Given the description of an element on the screen output the (x, y) to click on. 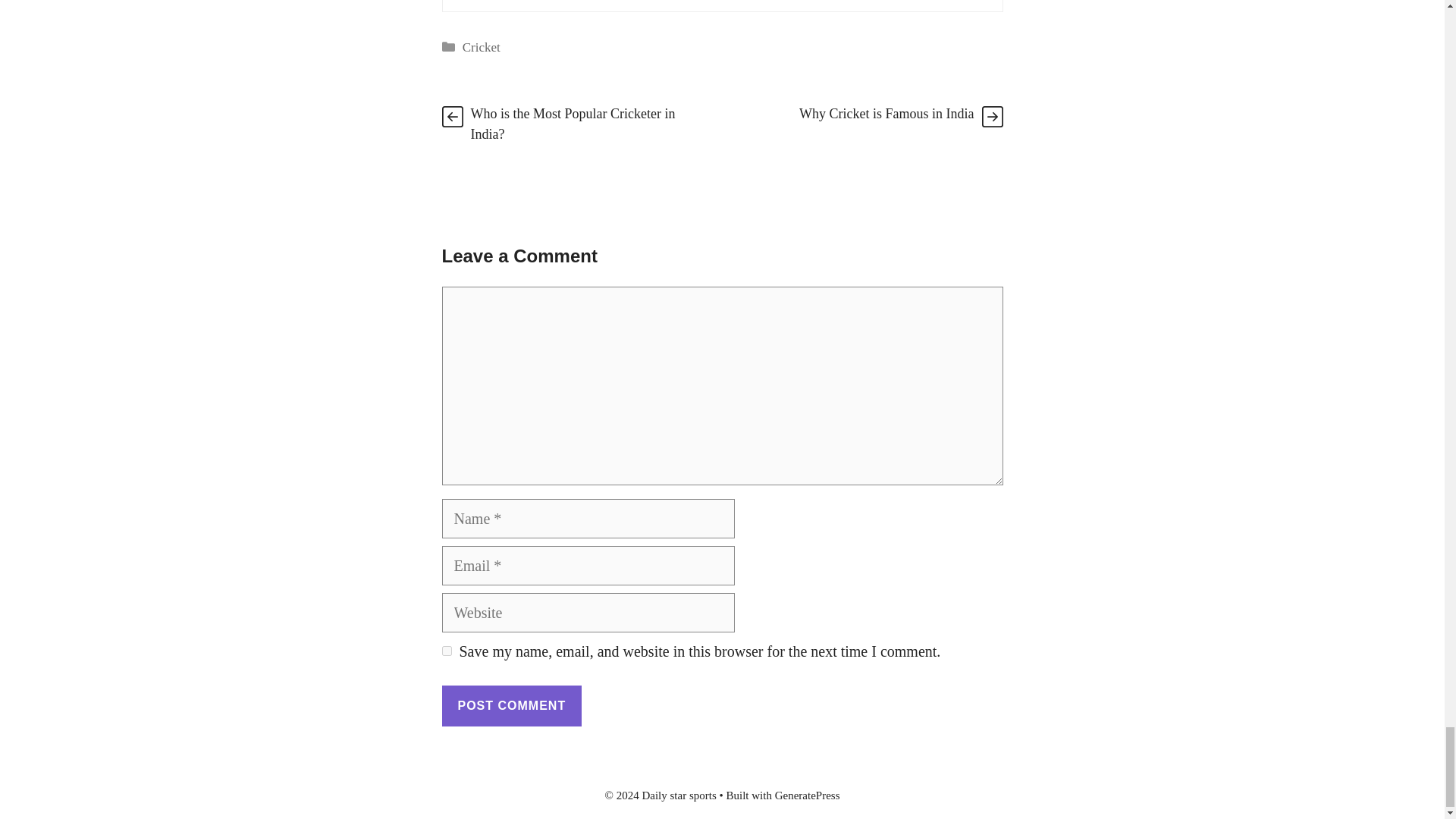
Who is the Most Popular Cricketer in India? (572, 123)
Post Comment (510, 705)
Why Cricket is Famous in India (886, 113)
GeneratePress (807, 795)
Post Comment (510, 705)
Cricket (481, 47)
yes (446, 651)
